Given the description of an element on the screen output the (x, y) to click on. 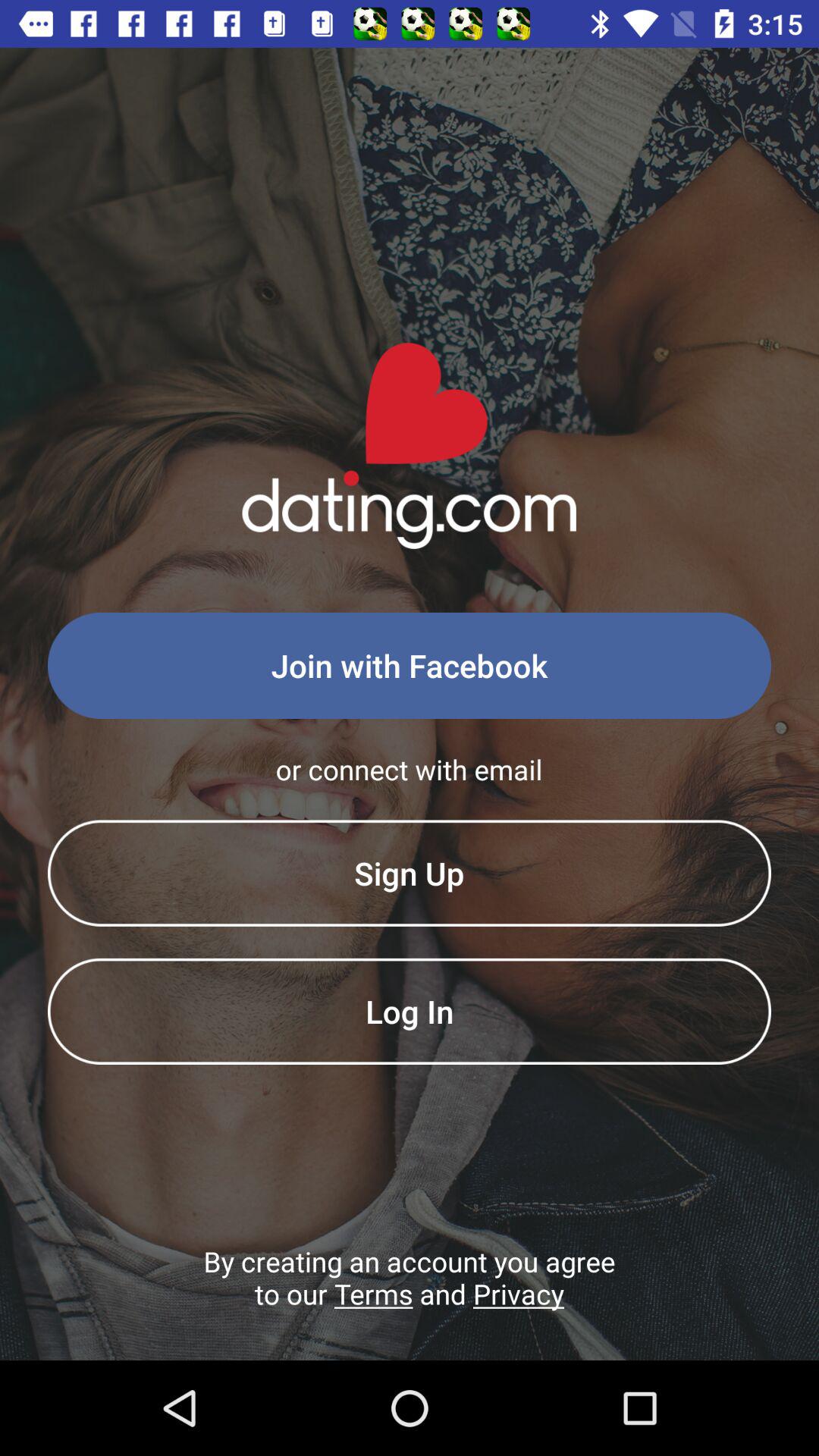
click item above the or connect with (409, 665)
